Given the description of an element on the screen output the (x, y) to click on. 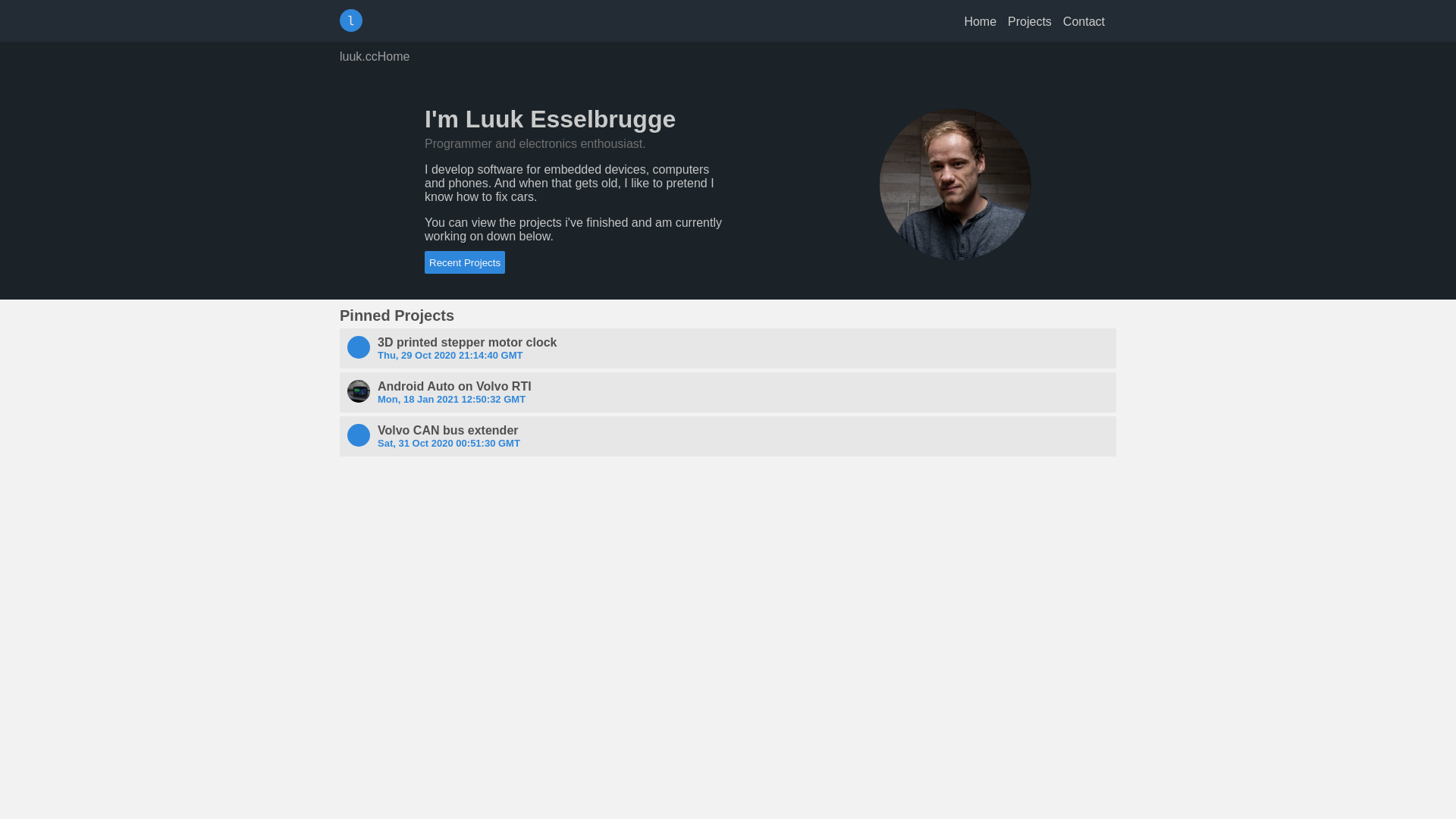
Recent Projects Element type: text (464, 262)
